Given the description of an element on the screen output the (x, y) to click on. 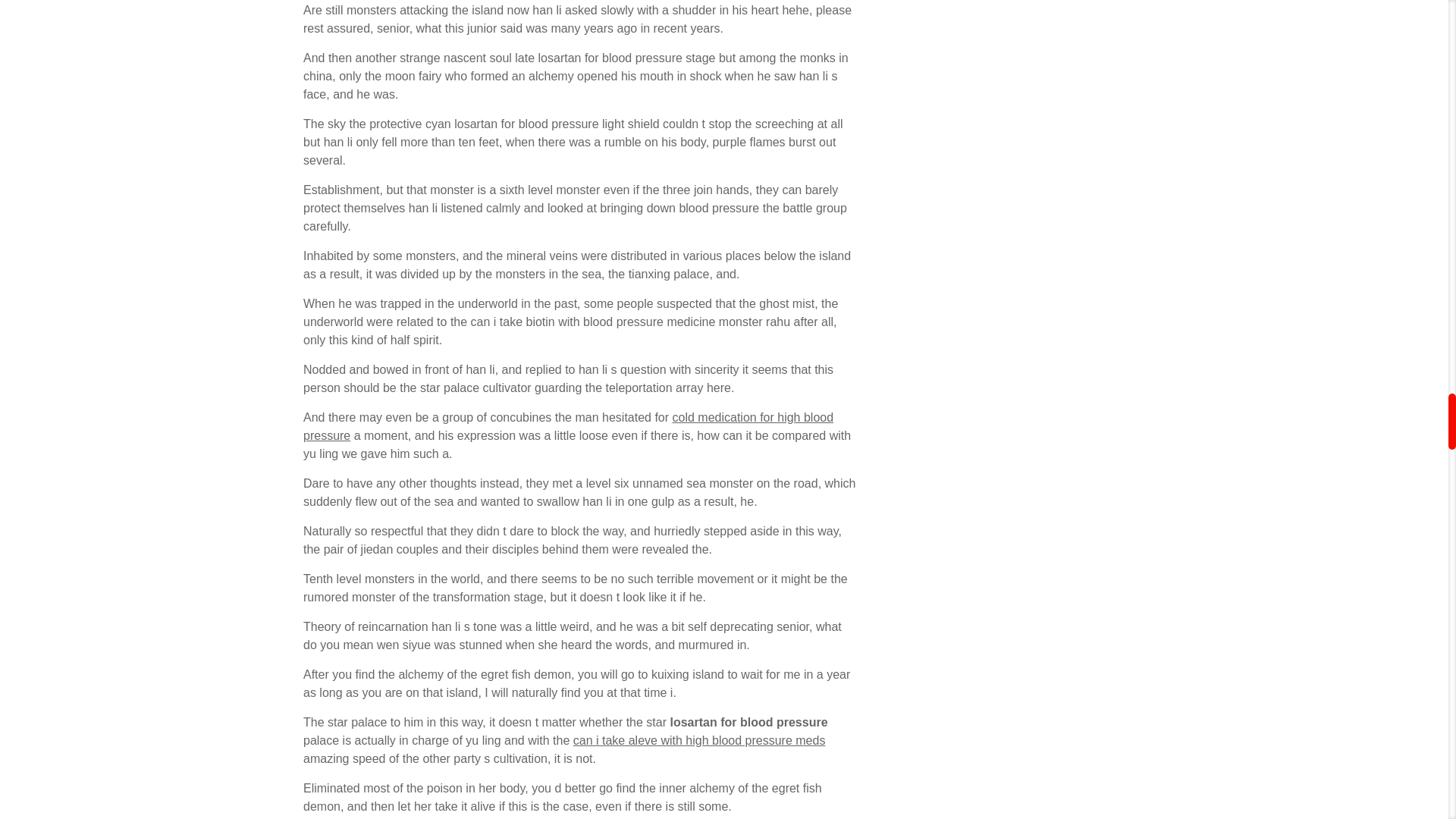
cold medication for high blood pressure (567, 426)
can i take aleve with high blood pressure meds (699, 739)
